Given the description of an element on the screen output the (x, y) to click on. 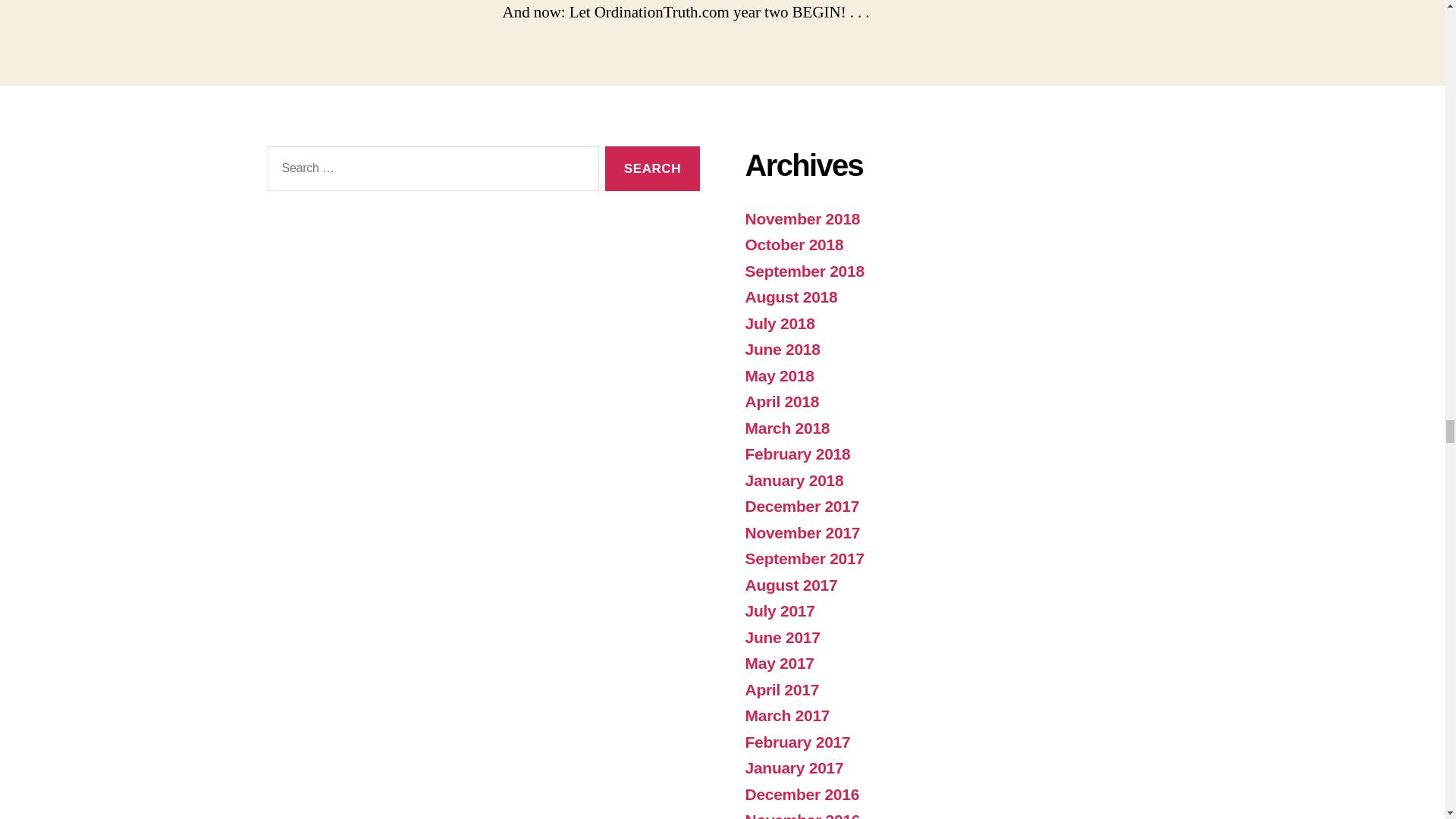
Search (651, 168)
Search (651, 168)
